Given the description of an element on the screen output the (x, y) to click on. 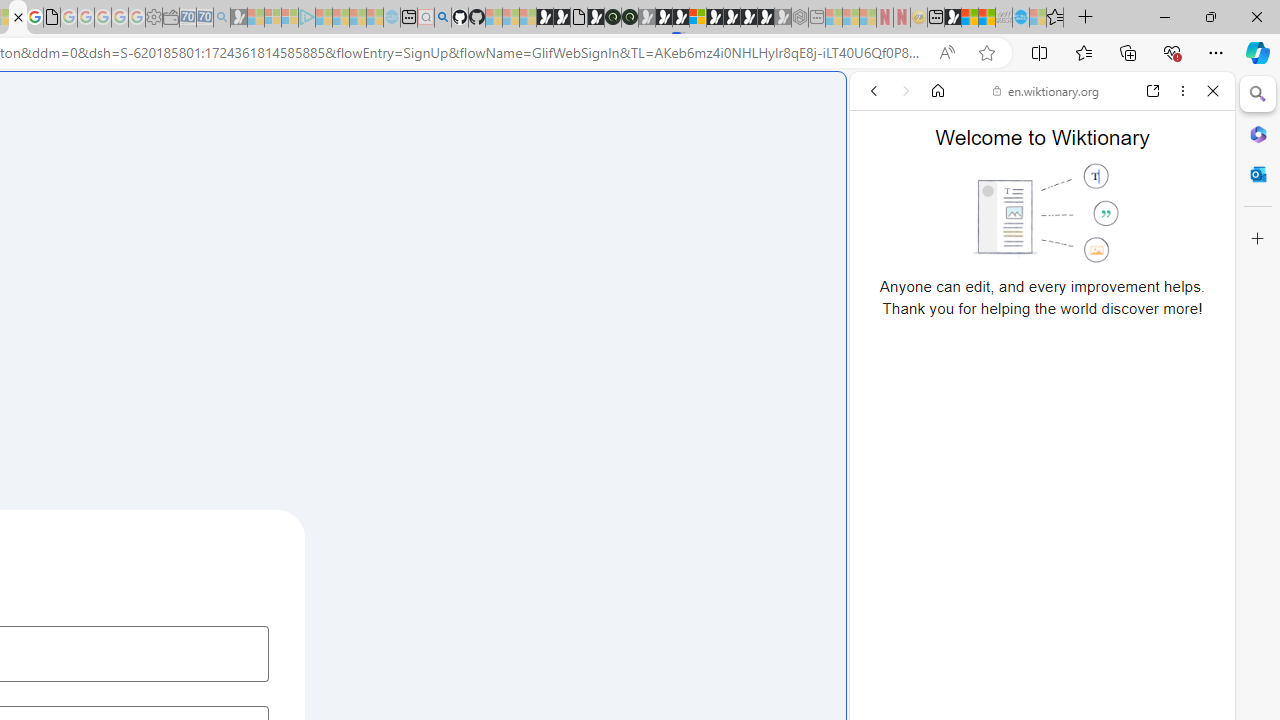
Future Focus Report 2024 (629, 17)
Search or enter web address (343, 191)
